Given the description of an element on the screen output the (x, y) to click on. 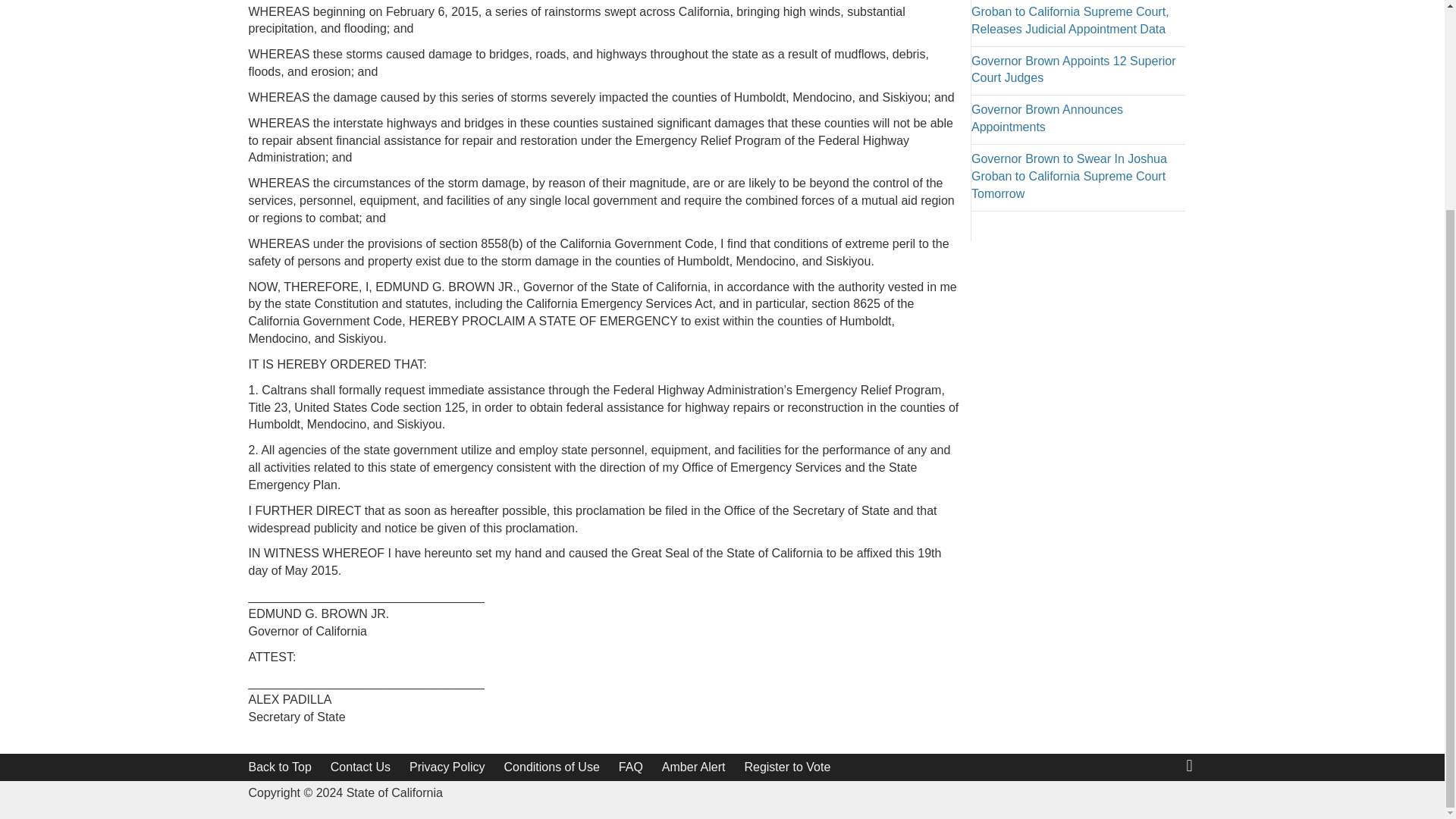
Governor Brown Announces Appointments (1046, 118)
Governor Brown Appoints 12 Superior Court Judges (1072, 69)
